Given the description of an element on the screen output the (x, y) to click on. 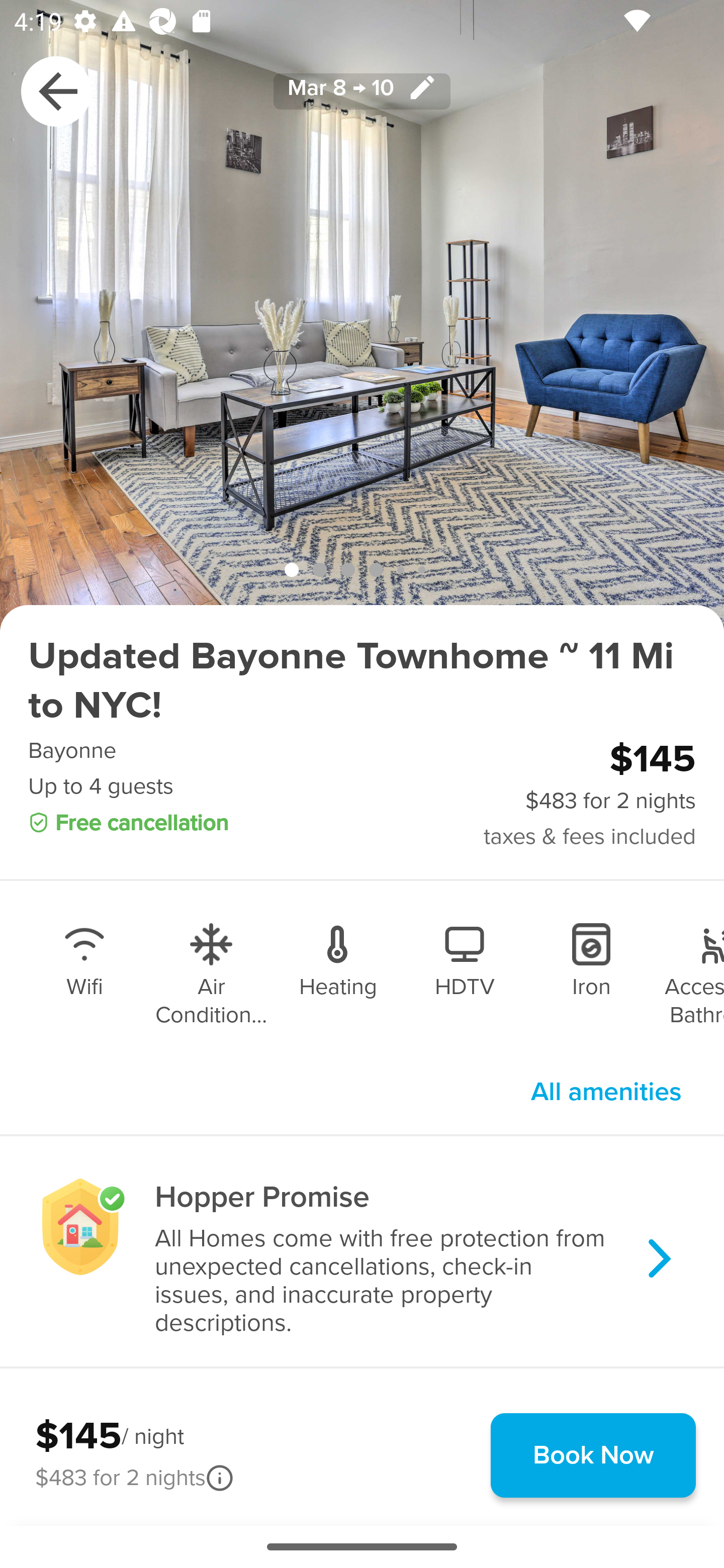
Mar 8 → 10 (361, 90)
Updated Bayonne Townhome ~ 11 Mi to NYC! (361, 681)
All amenities (606, 1091)
Book Now (592, 1454)
